Given the description of an element on the screen output the (x, y) to click on. 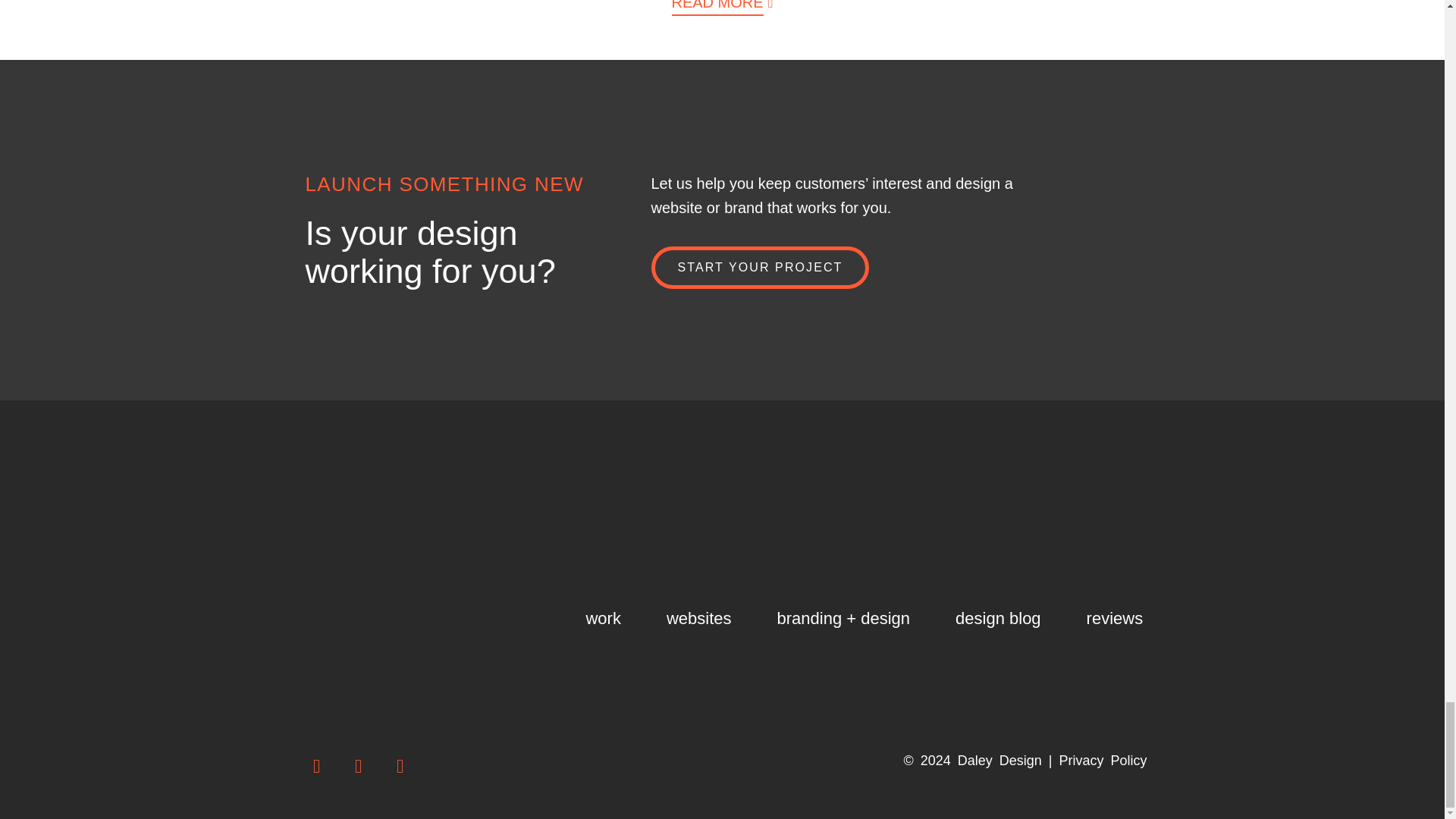
READ MORE (716, 7)
